Given the description of an element on the screen output the (x, y) to click on. 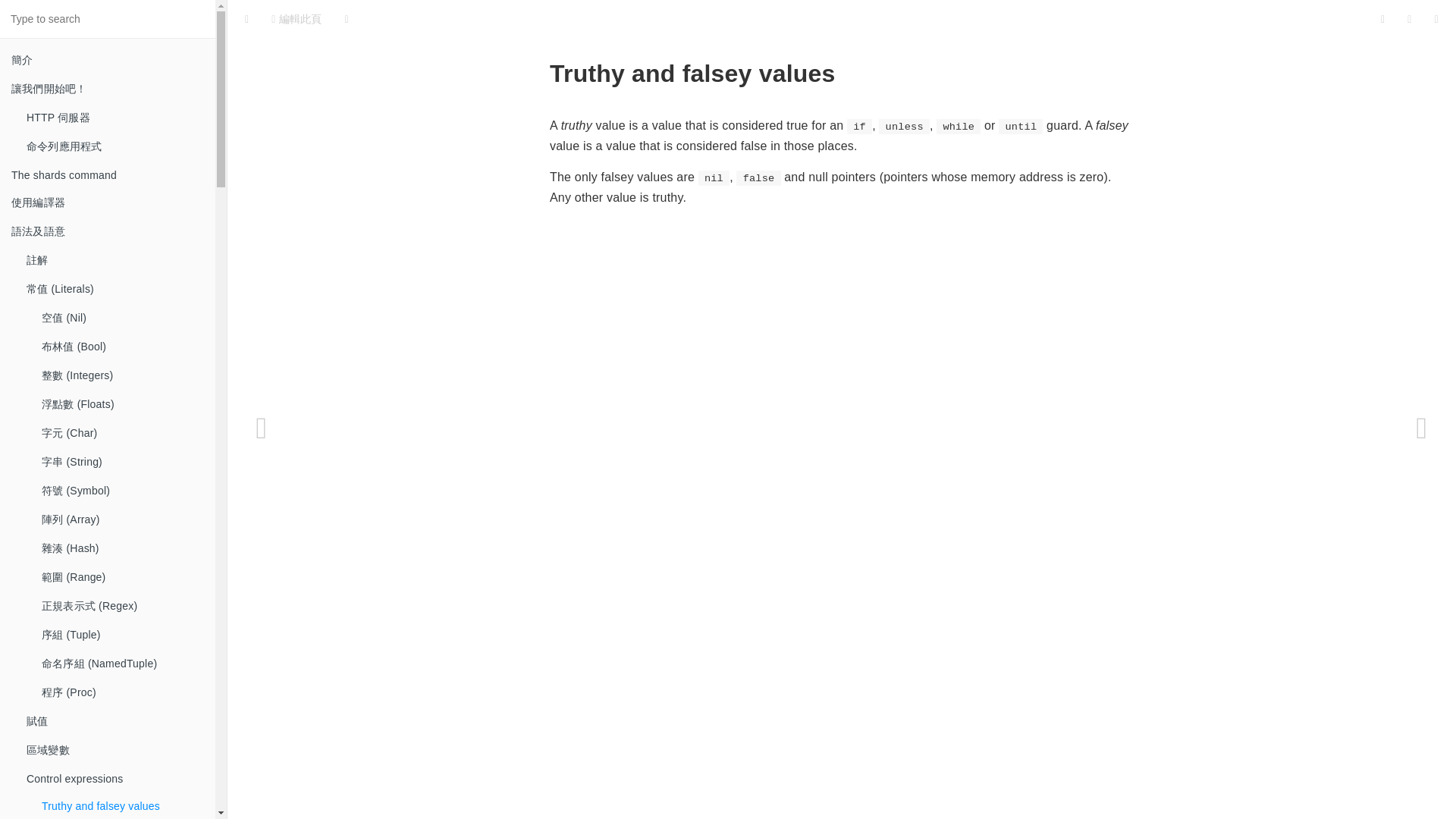
The shards command (107, 175)
Control expressions (114, 778)
